Given the description of an element on the screen output the (x, y) to click on. 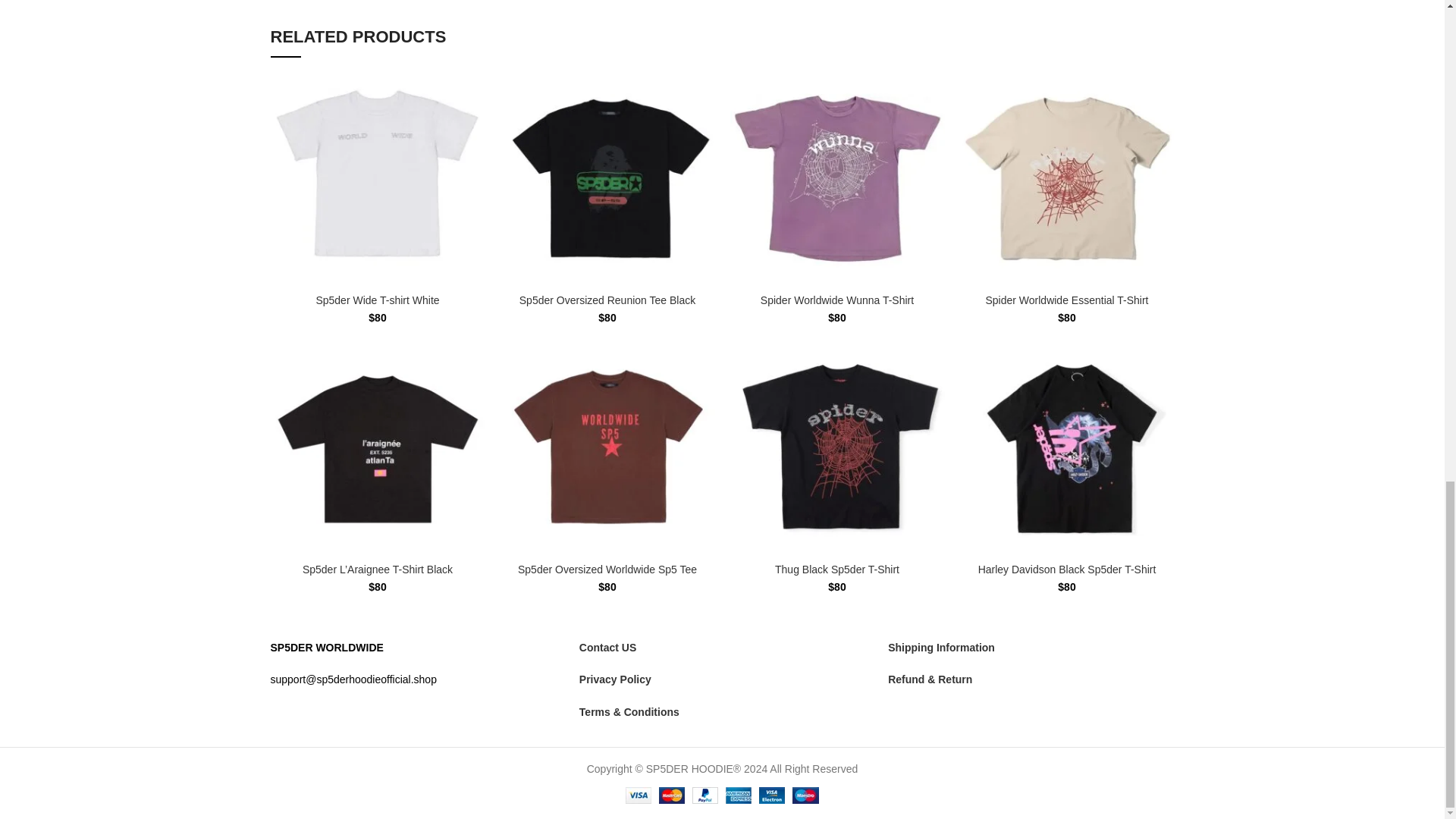
Sp5der Oversized Reunion Tee Black (607, 300)
Spider Worldwide Wunna T-Shirt (837, 300)
Sp5der Wide T-shirt White (377, 300)
Spider Worldwide Essential T-Shirt (1066, 300)
